Given the description of an element on the screen output the (x, y) to click on. 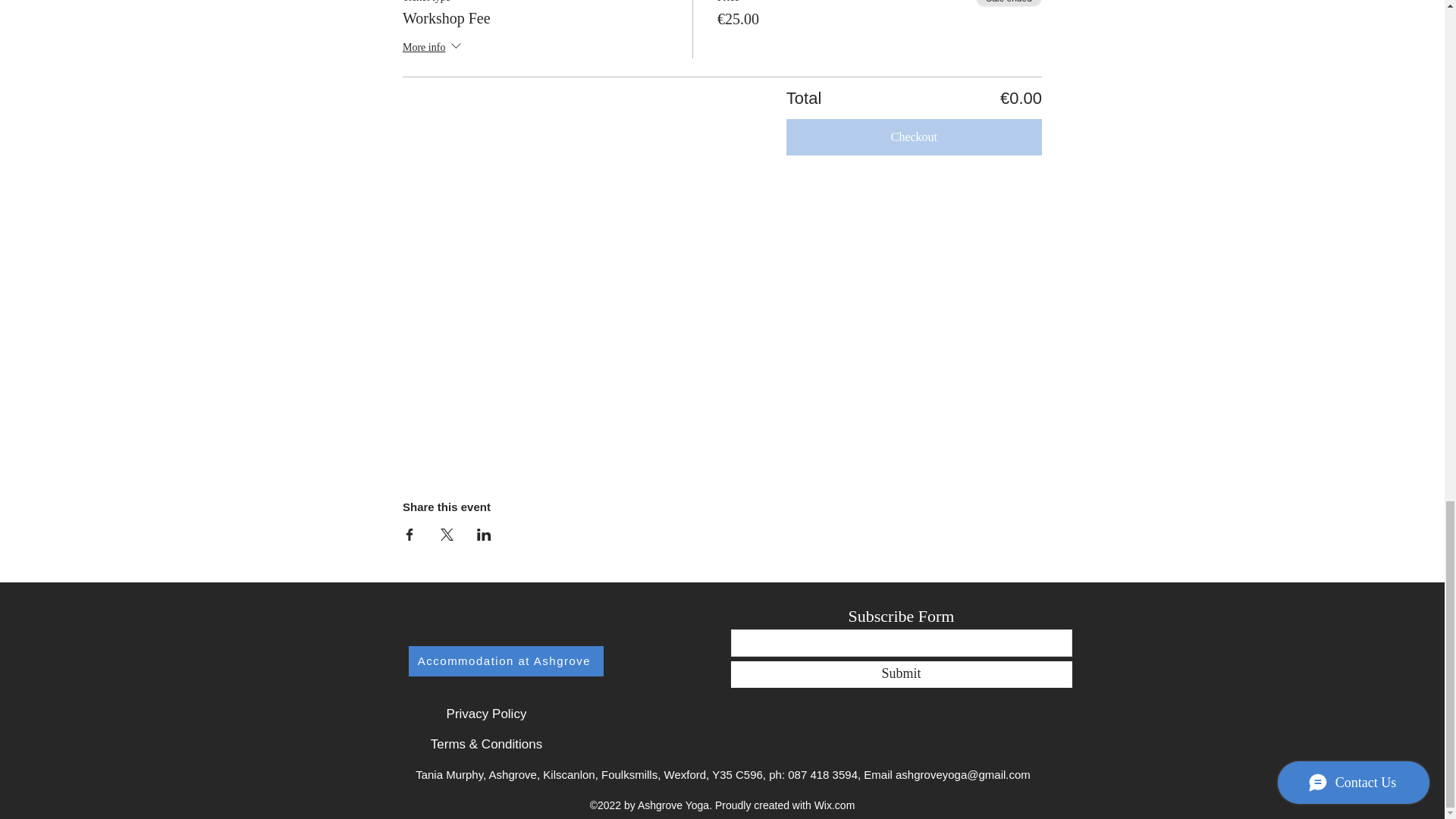
Checkout (914, 136)
More info (433, 47)
Privacy Policy (485, 714)
Accommodation at Ashgrove (504, 661)
Submit (900, 673)
